Given the description of an element on the screen output the (x, y) to click on. 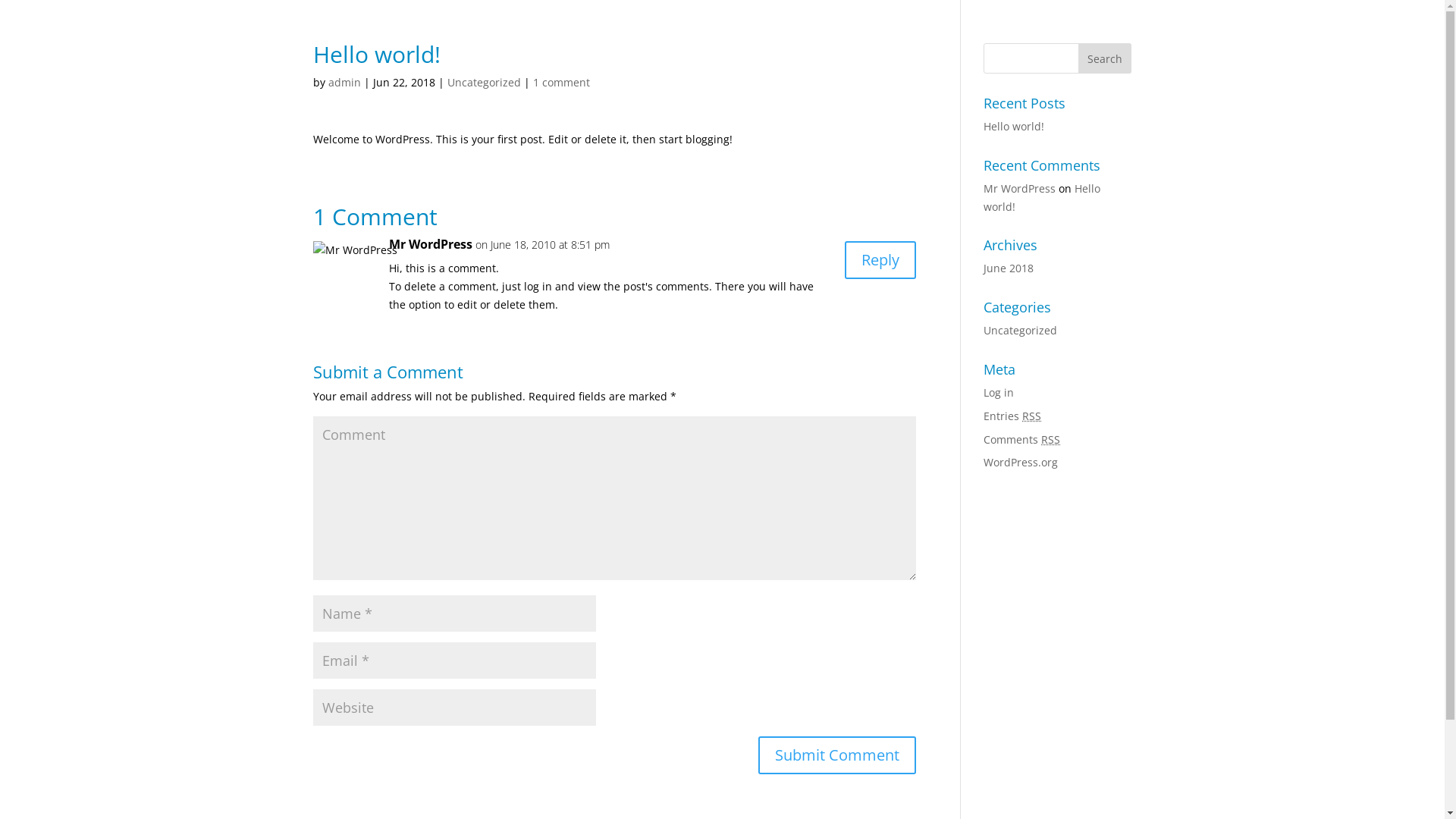
Uncategorized Element type: text (1020, 330)
Log in Element type: text (998, 392)
Submit Comment Element type: text (837, 755)
Mr WordPress Element type: text (1019, 188)
Hello world! Element type: text (1013, 126)
Mr WordPress Element type: text (429, 244)
Search Element type: text (1104, 58)
1 comment Element type: text (560, 82)
Hello world! Element type: text (1041, 197)
Comments RSS Element type: text (1021, 439)
June 2018 Element type: text (1008, 267)
Uncategorized Element type: text (483, 82)
Entries RSS Element type: text (1012, 415)
WordPress.org Element type: text (1020, 462)
admin Element type: text (343, 82)
Reply Element type: text (880, 260)
